Given the description of an element on the screen output the (x, y) to click on. 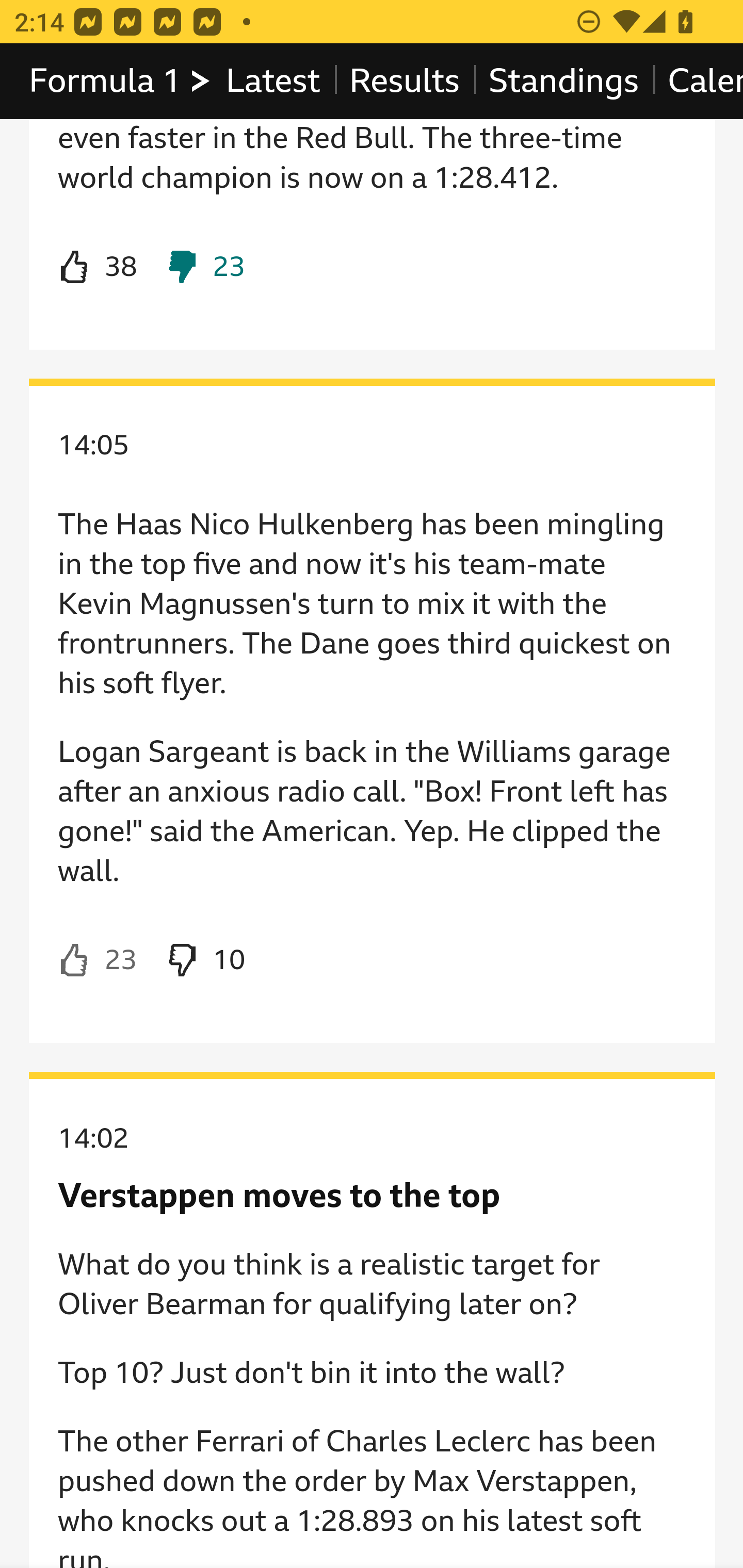
Like (97, 267)
Disliked (204, 267)
Like (97, 960)
Dislike (204, 960)
